Given the description of an element on the screen output the (x, y) to click on. 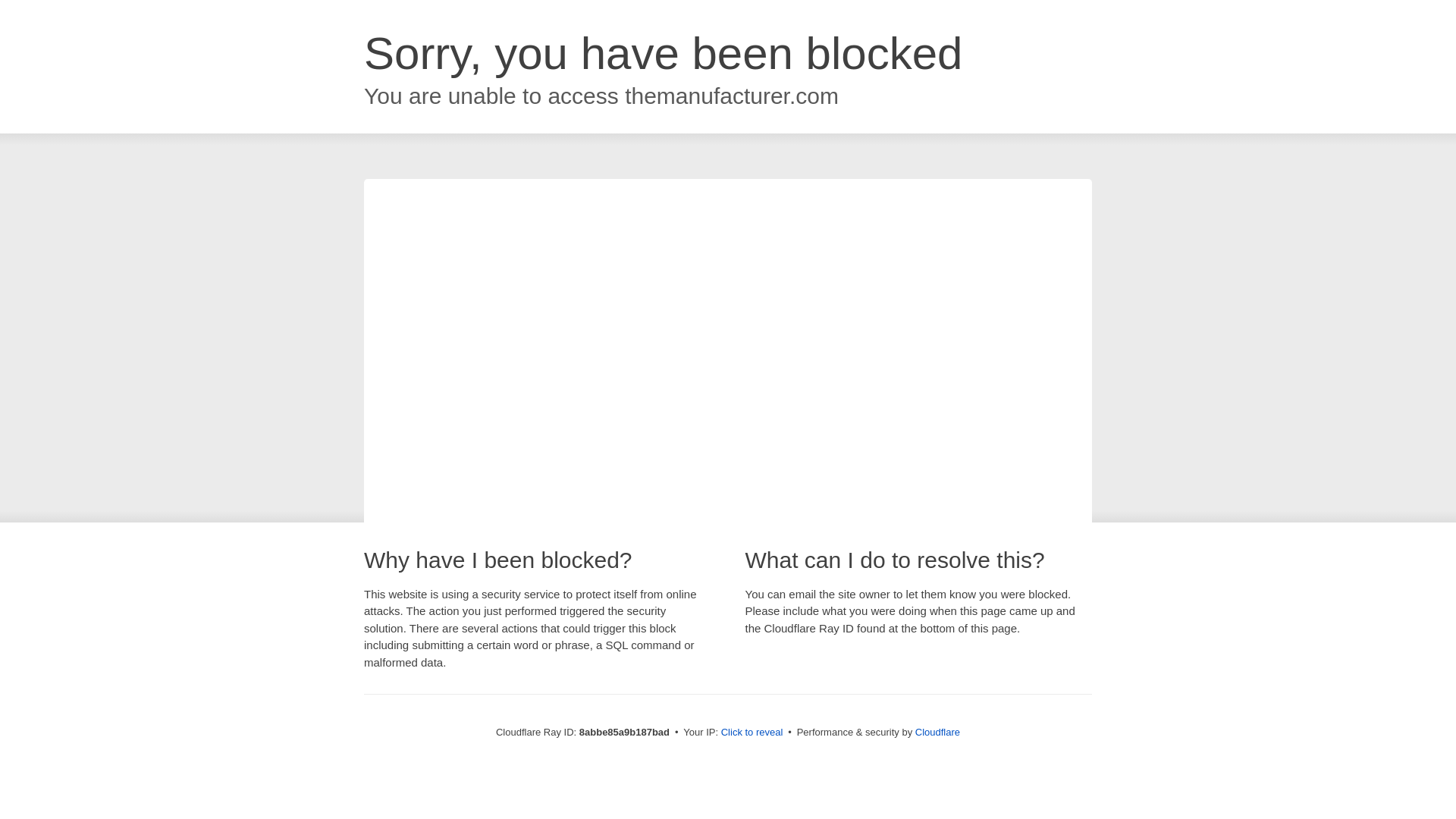
Click to reveal (751, 732)
Cloudflare (937, 731)
